Given the description of an element on the screen output the (x, y) to click on. 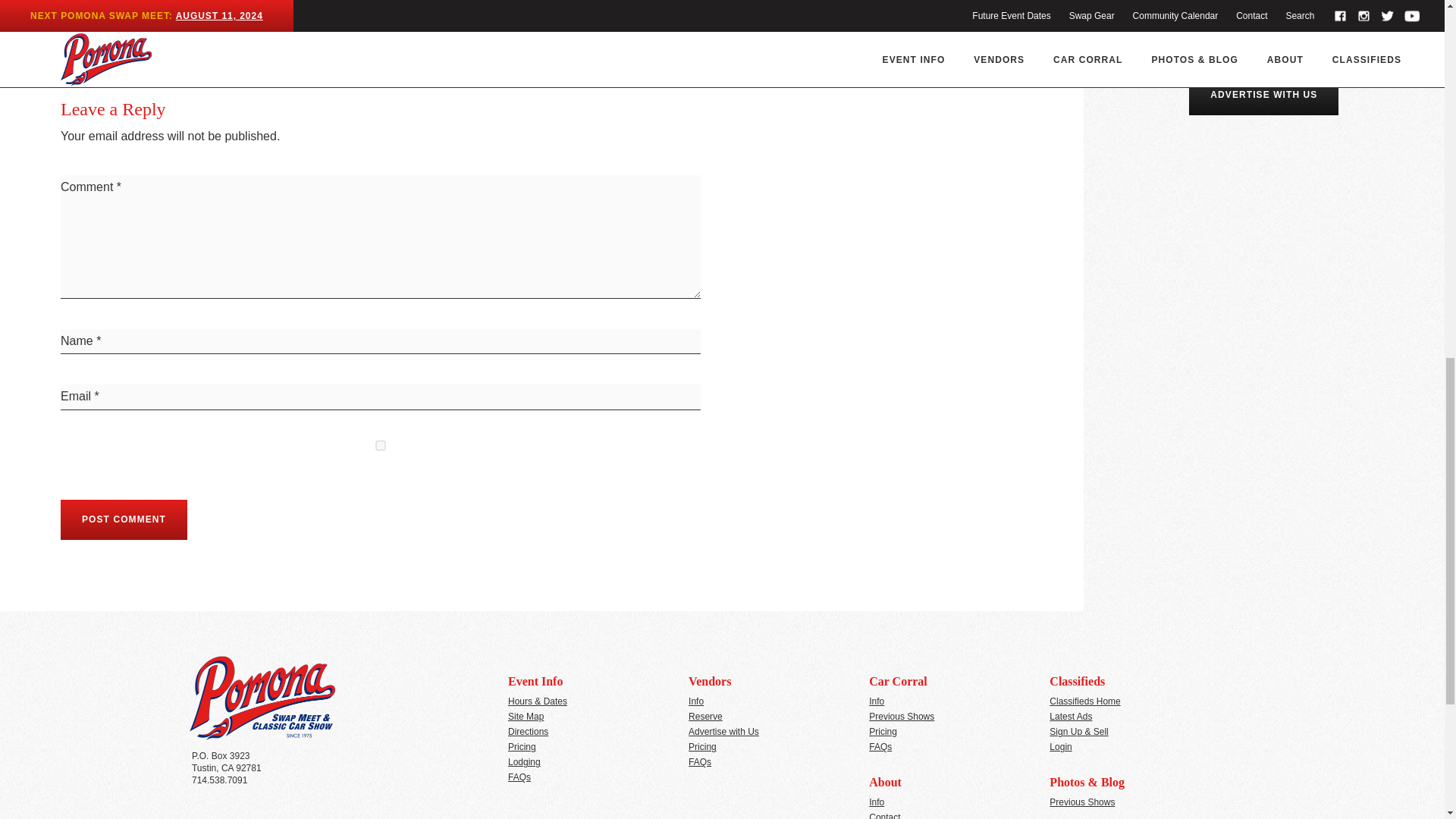
Post Comment (124, 519)
yes (380, 445)
